Given the description of an element on the screen output the (x, y) to click on. 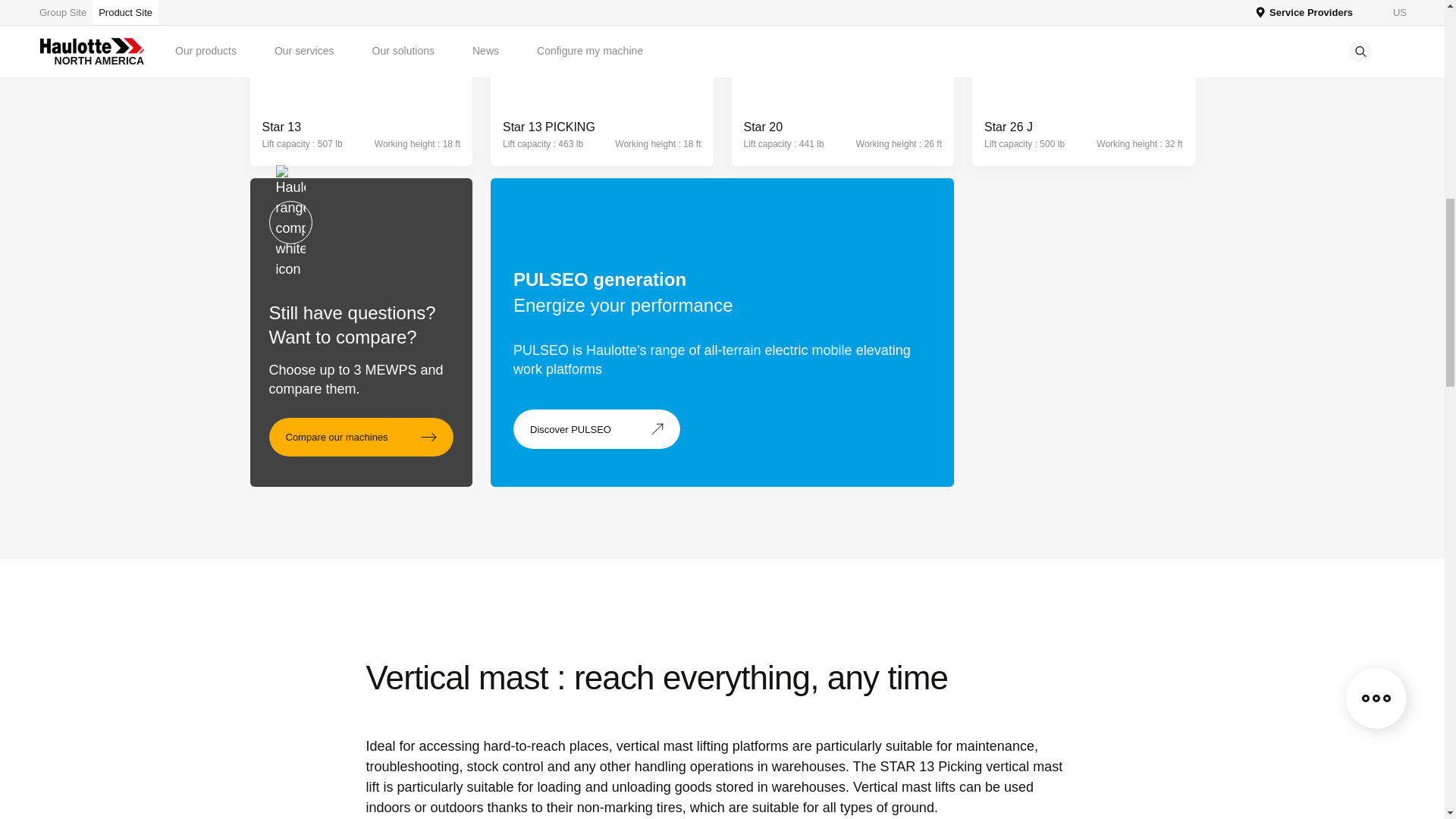
Discover PULSEO (596, 428)
Compare our machines (359, 436)
